Given the description of an element on the screen output the (x, y) to click on. 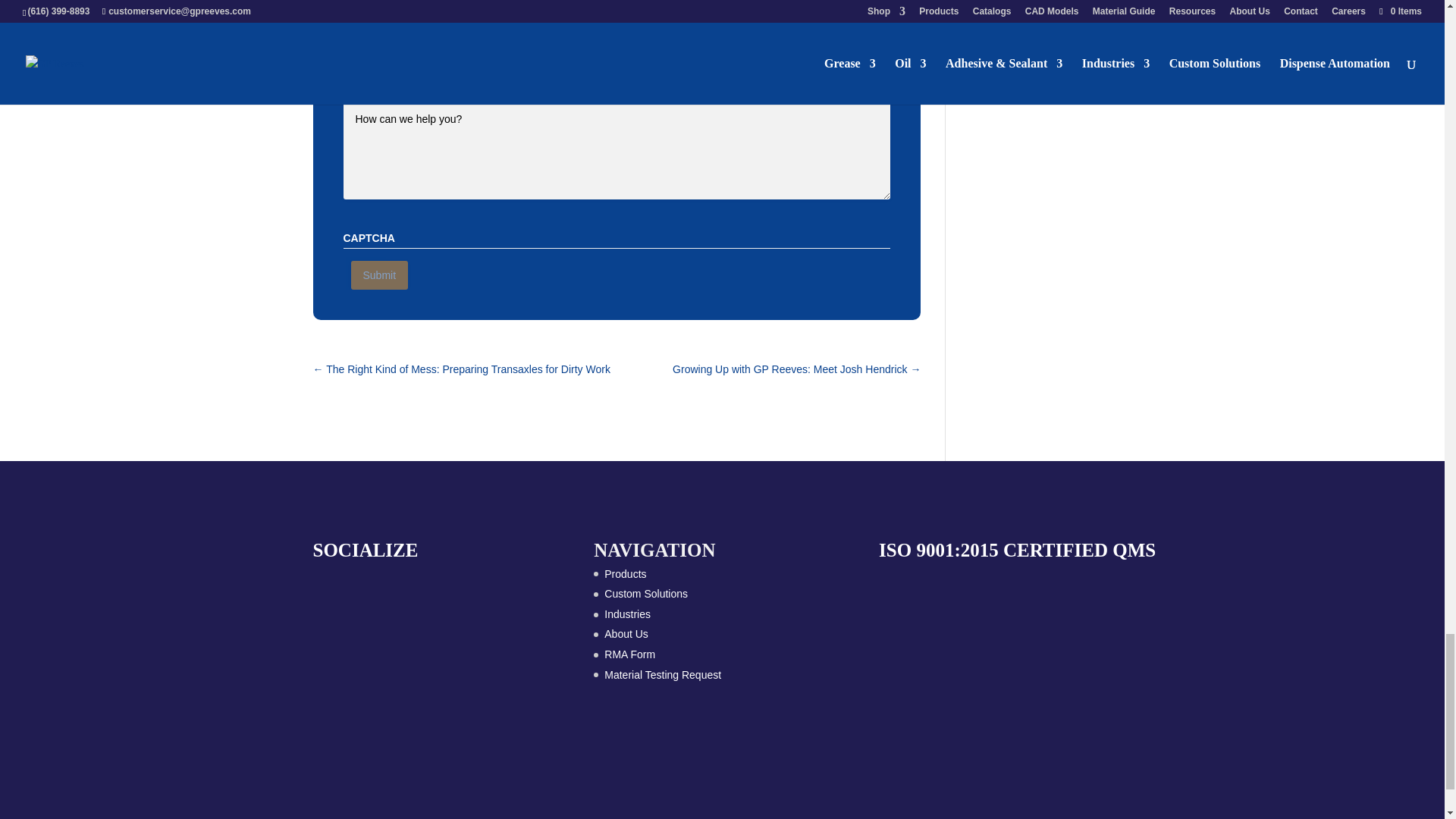
Submit (378, 275)
